Given the description of an element on the screen output the (x, y) to click on. 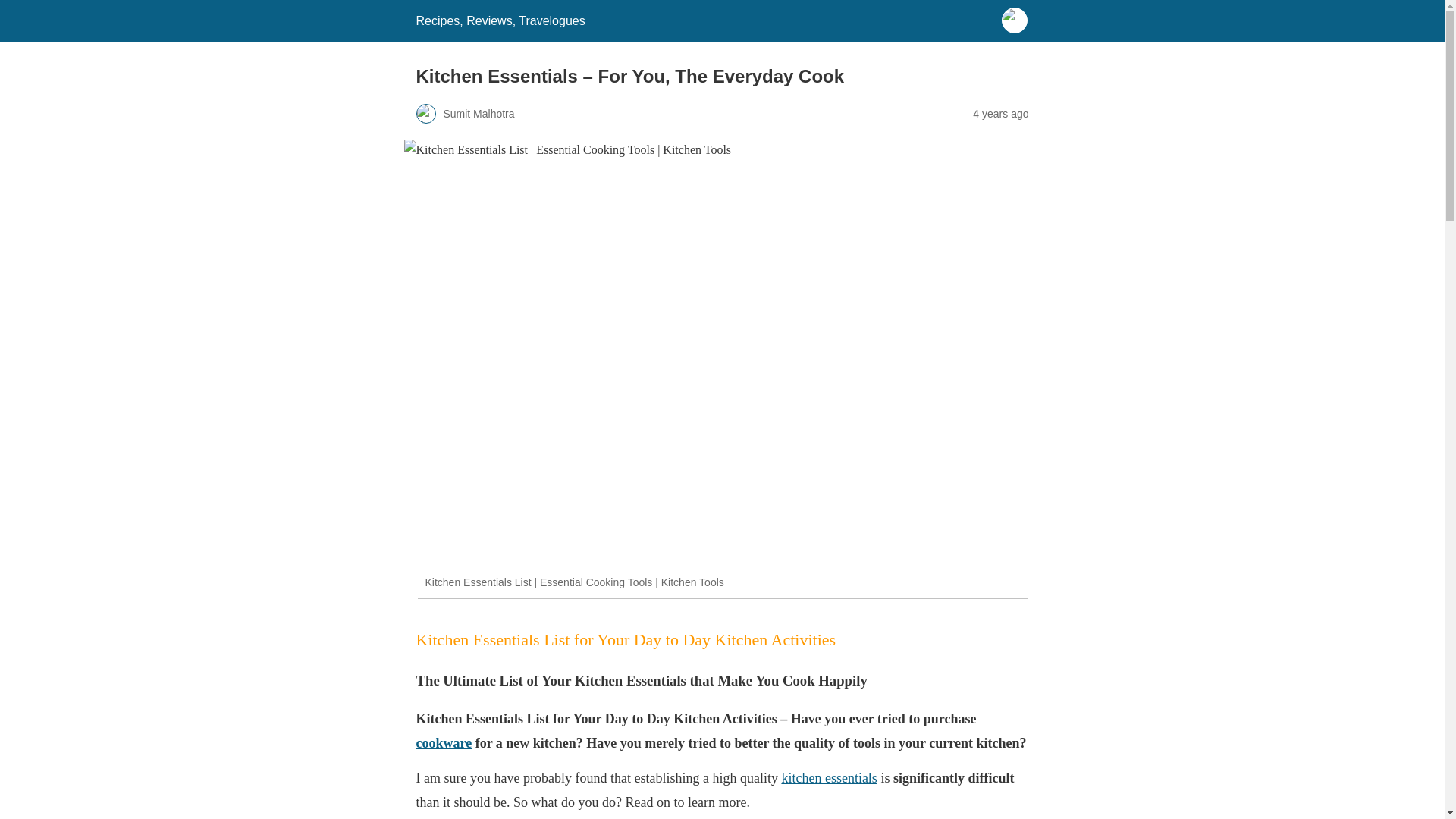
cookware (442, 743)
Recipes, Reviews, Travelogues (499, 20)
kitchen essentials (828, 777)
